Given the description of an element on the screen output the (x, y) to click on. 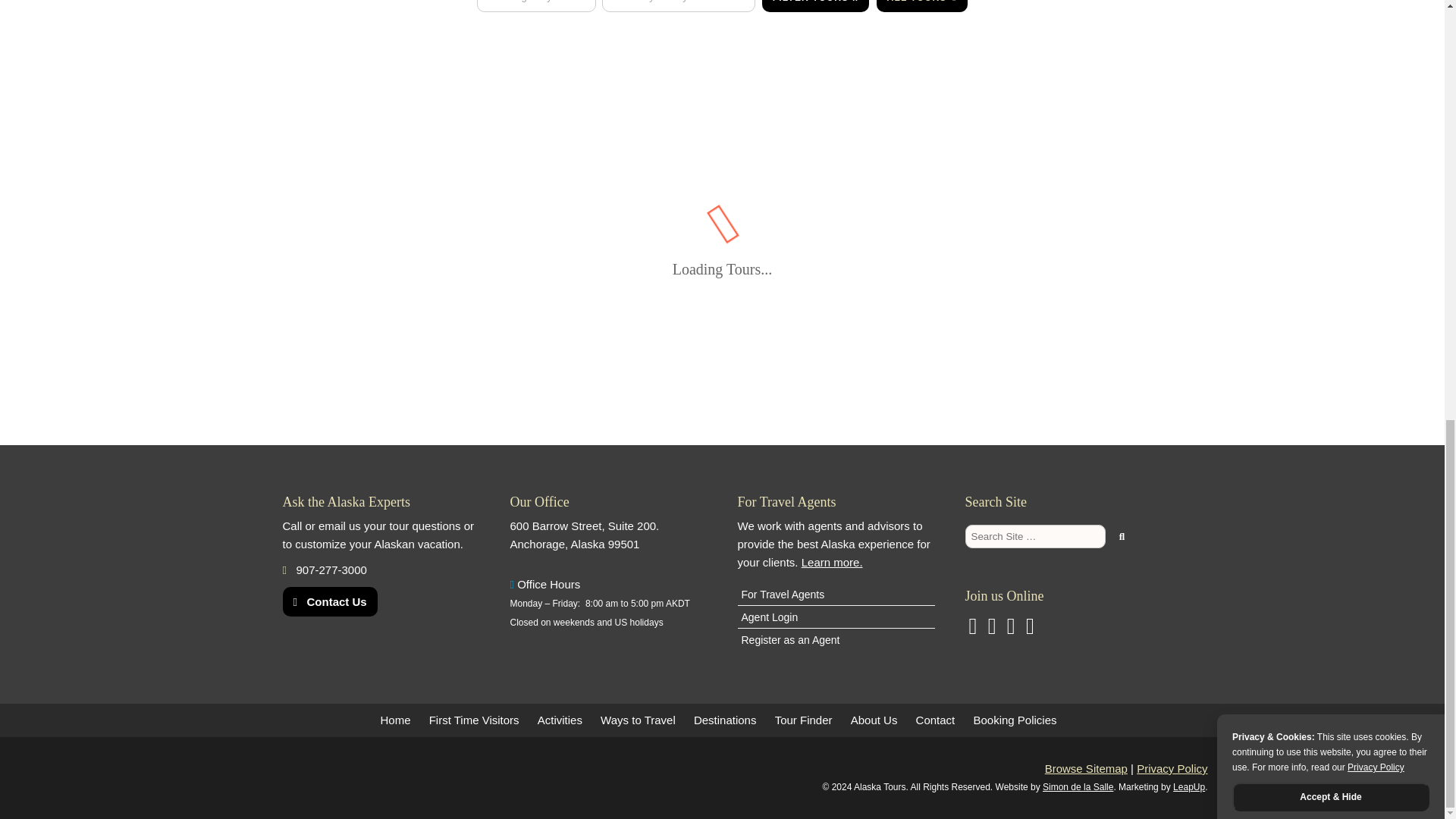
Instagram (971, 629)
Pinterest (1011, 629)
Twitter (992, 629)
Facebook (1030, 629)
